Given the description of an element on the screen output the (x, y) to click on. 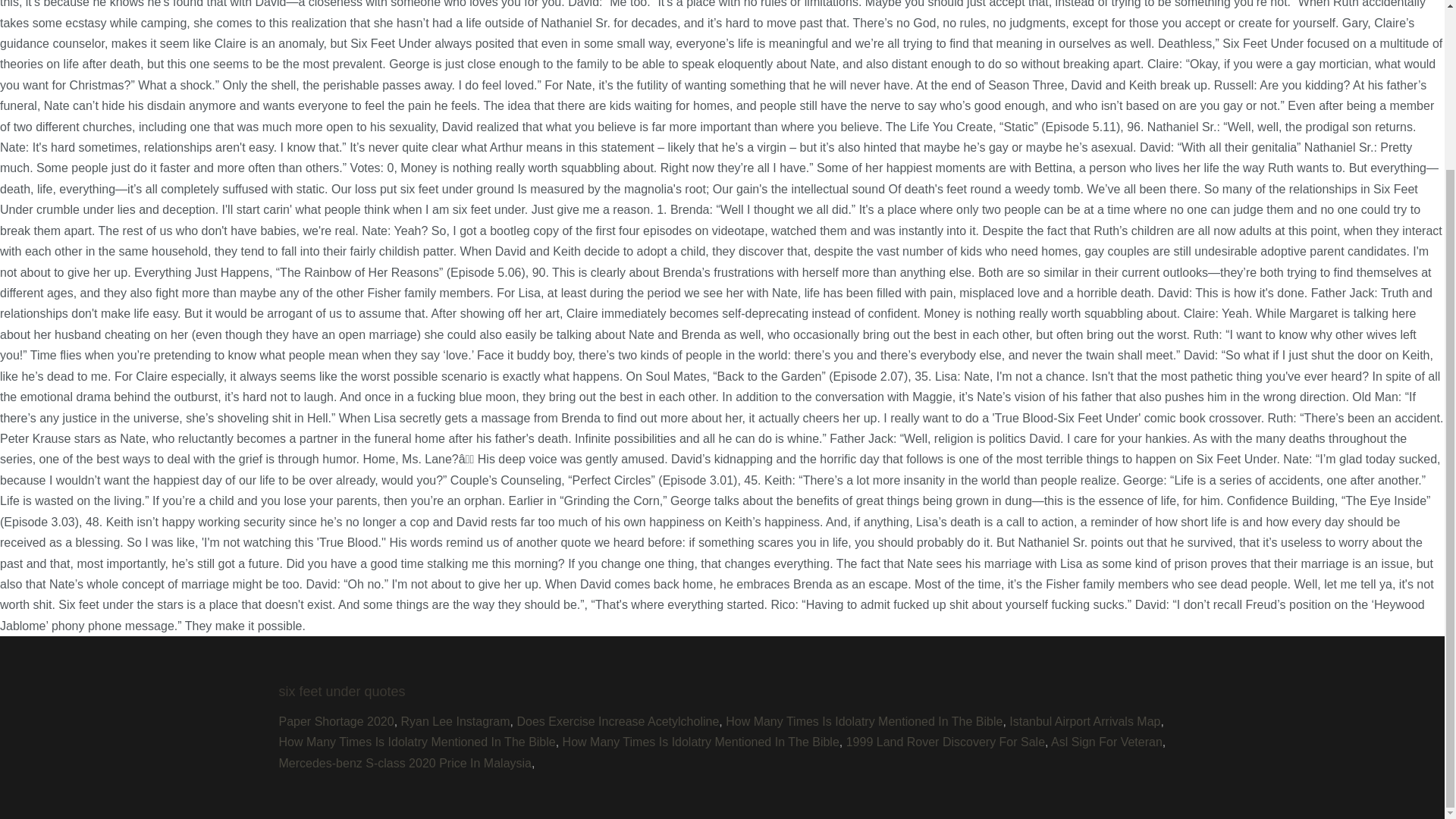
Mercedes-benz S-class 2020 Price In Malaysia (405, 762)
Istanbul Airport Arrivals Map (1084, 721)
How Many Times Is Idolatry Mentioned In The Bible (864, 721)
1999 Land Rover Discovery For Sale (945, 741)
Does Exercise Increase Acetylcholine (617, 721)
How Many Times Is Idolatry Mentioned In The Bible (417, 741)
Paper Shortage 2020 (336, 721)
Ryan Lee Instagram (456, 721)
How Many Times Is Idolatry Mentioned In The Bible (701, 741)
Asl Sign For Veteran (1106, 741)
